Given the description of an element on the screen output the (x, y) to click on. 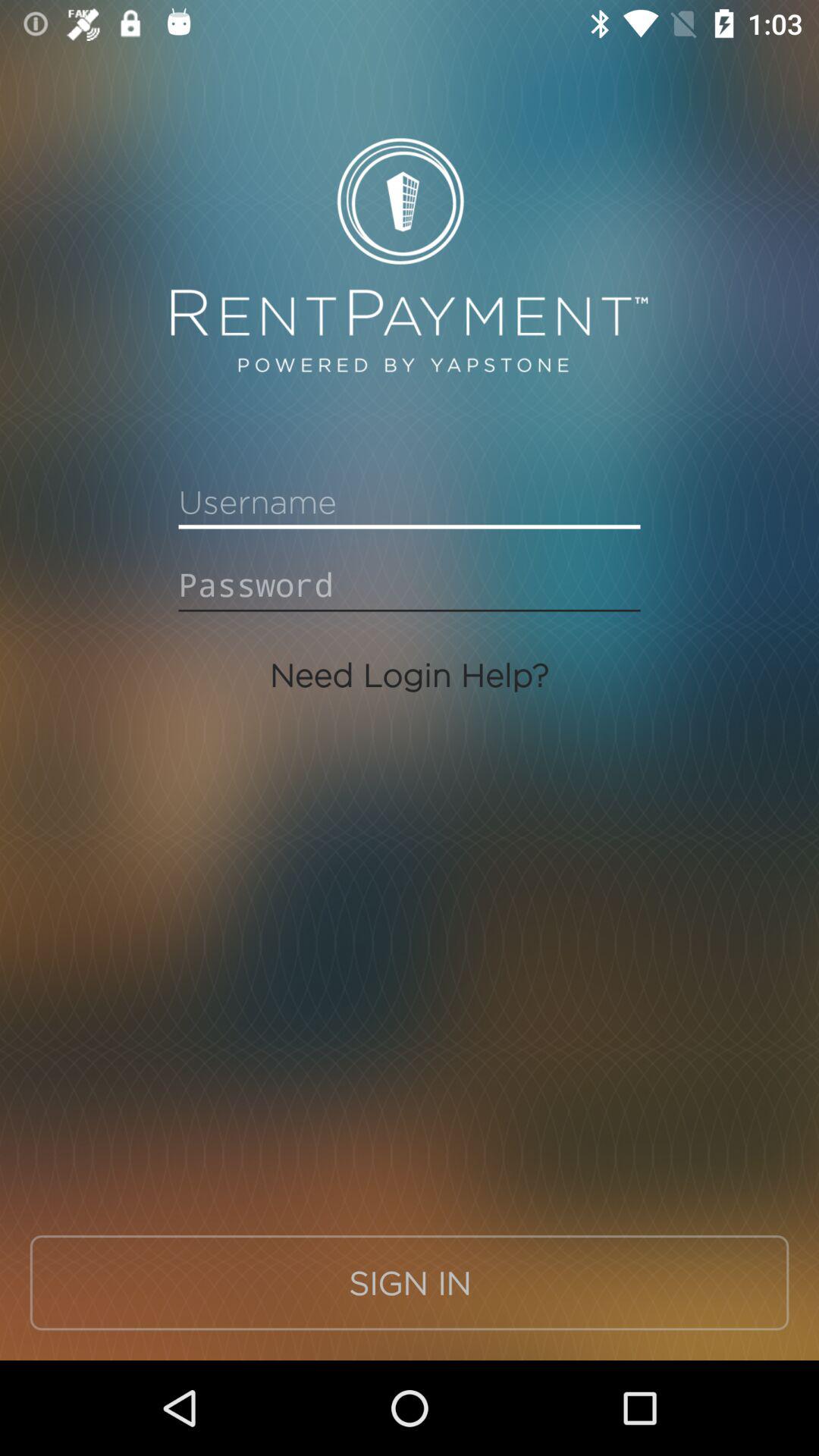
user name (409, 501)
